Given the description of an element on the screen output the (x, y) to click on. 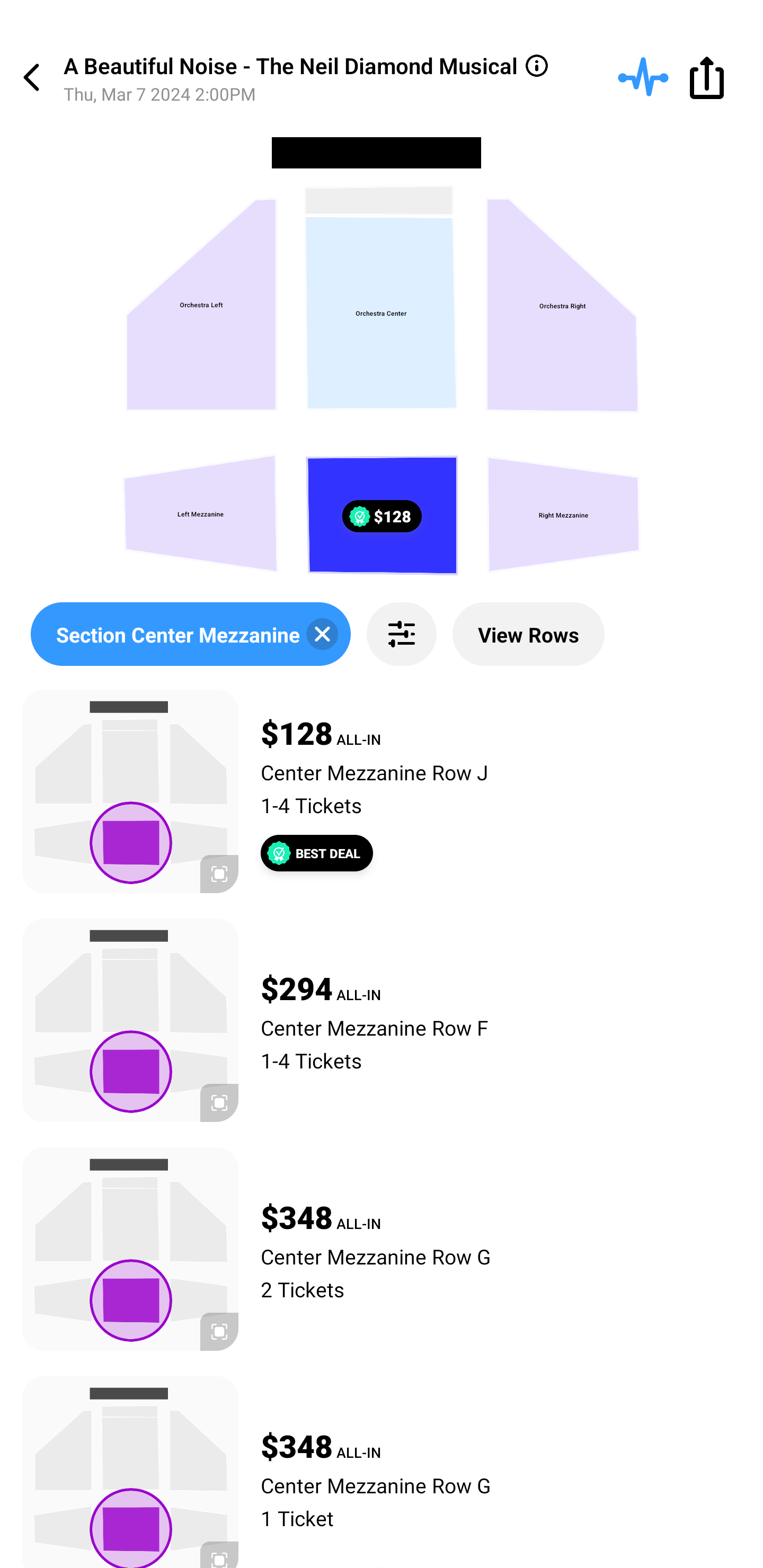
Section Center Mezzanine (190, 634)
View Rows (528, 634)
BEST DEAL (316, 852)
